Given the description of an element on the screen output the (x, y) to click on. 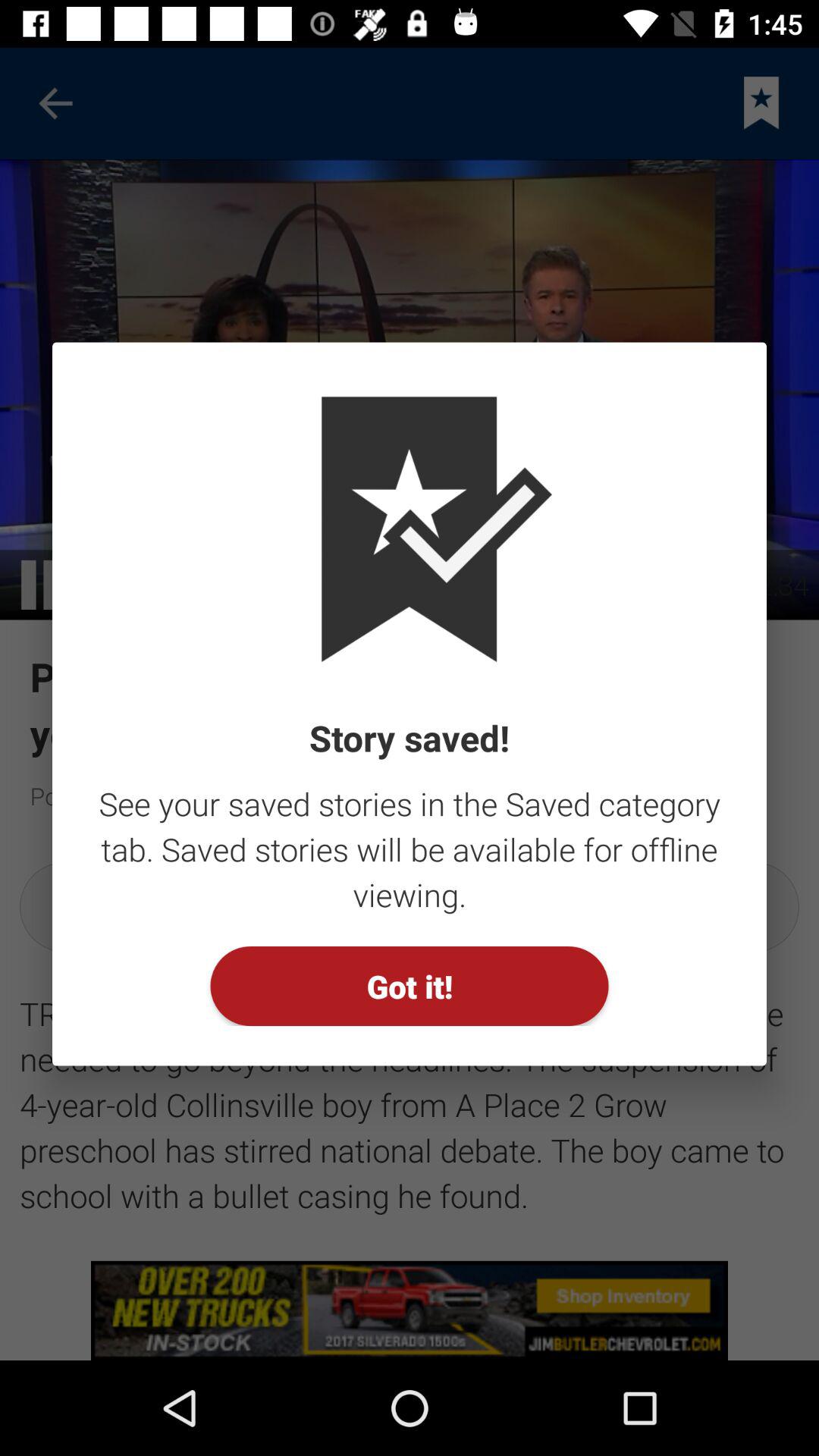
tap app below the see your saved icon (409, 986)
